Given the description of an element on the screen output the (x, y) to click on. 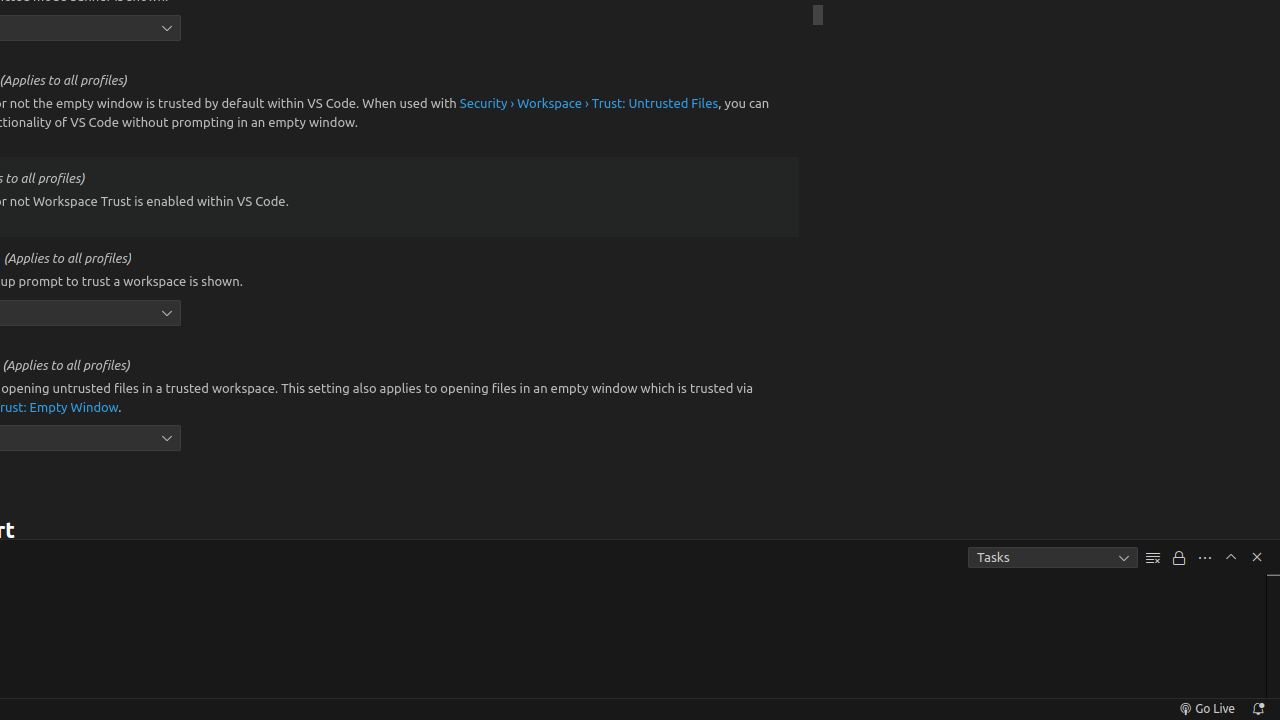
Tasks Element type: menu-item (1053, 557)
Notifications Element type: push-button (1258, 709)
broadcast Go Live, Click to run live server Element type: push-button (1206, 709)
Views and More Actions... Element type: push-button (1205, 557)
